Given the description of an element on the screen output the (x, y) to click on. 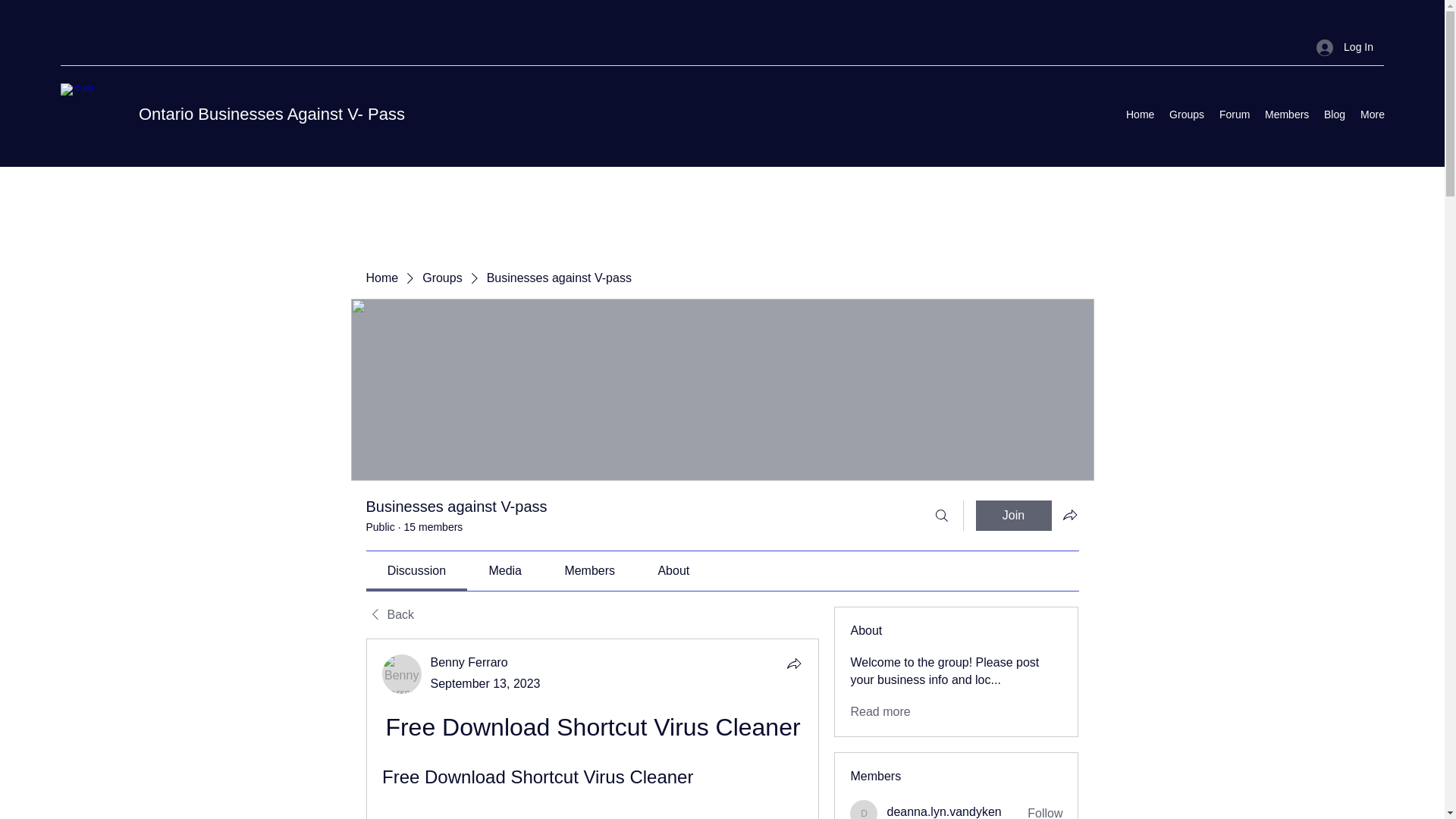
Benny Ferraro (469, 662)
Log In (1345, 47)
Benny Ferraro (469, 662)
Back (389, 614)
deanna.lyn.vandyken (863, 809)
Follow (1044, 812)
September 13, 2023 (485, 683)
Ontario Businesses Against V- Pass (271, 113)
Blog (1334, 114)
Groups (441, 278)
